Given the description of an element on the screen output the (x, y) to click on. 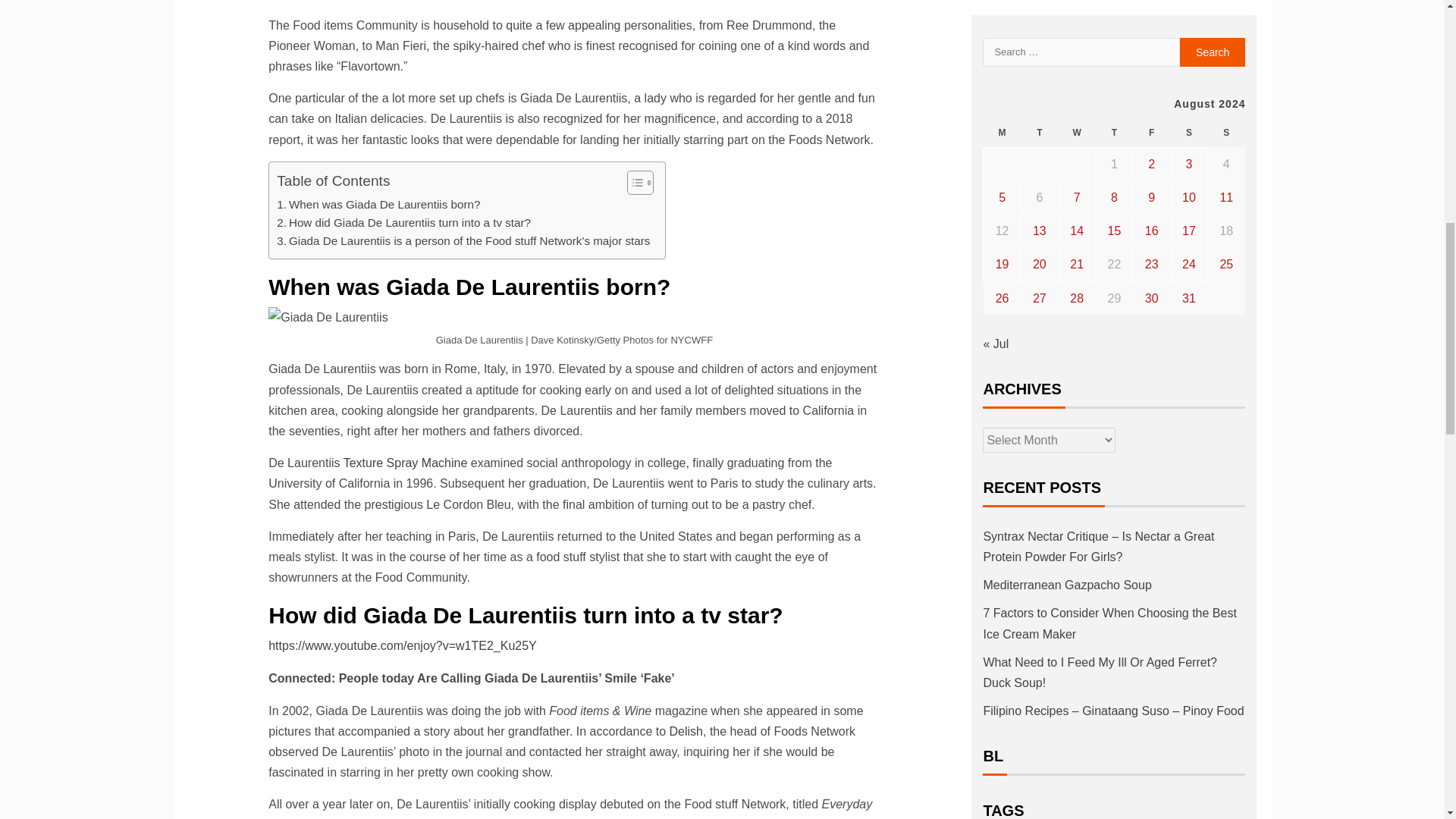
Wednesday (1077, 132)
Texture Spray Machine (405, 462)
When was Giada De Laurentiis born? (378, 204)
Search (1212, 51)
Tuesday (1039, 132)
When was Giada De Laurentiis born? (378, 204)
Search (1212, 51)
How did Giada De Laurentiis turn into a tv star? (403, 222)
Delish (686, 730)
Monday (1002, 132)
